Given the description of an element on the screen output the (x, y) to click on. 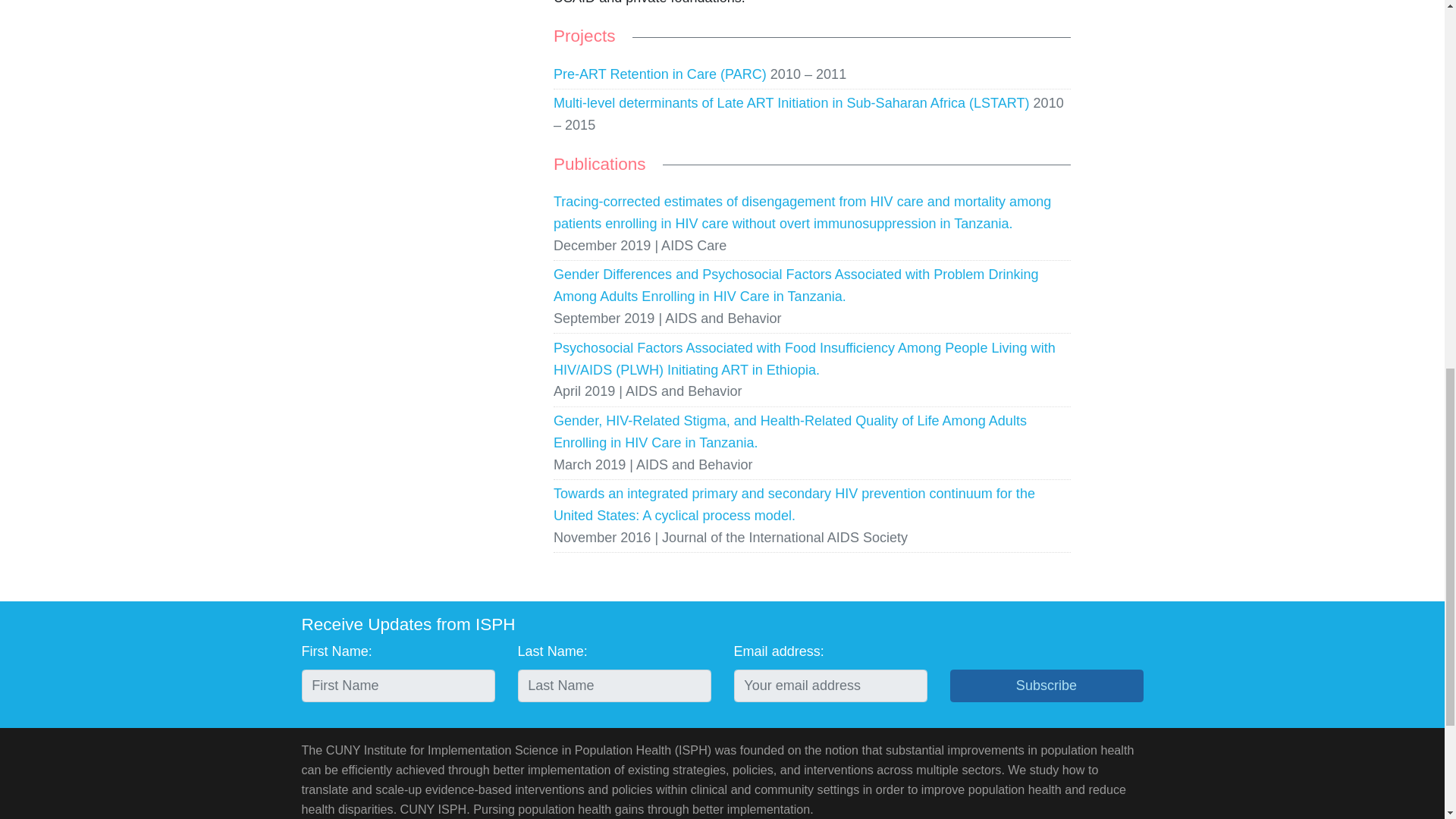
Subscribe (1045, 685)
